Given the description of an element on the screen output the (x, y) to click on. 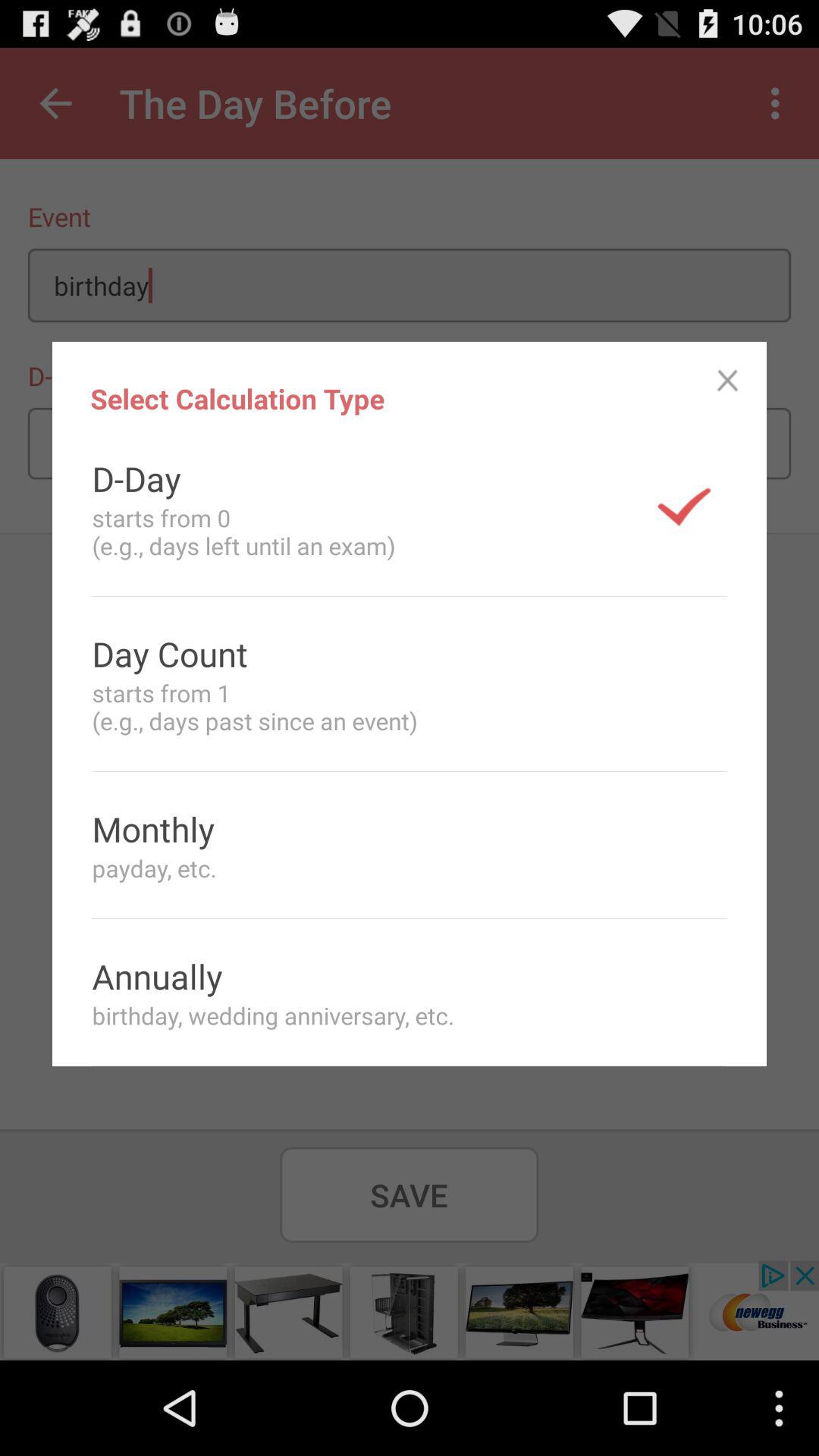
close window (727, 380)
